Given the description of an element on the screen output the (x, y) to click on. 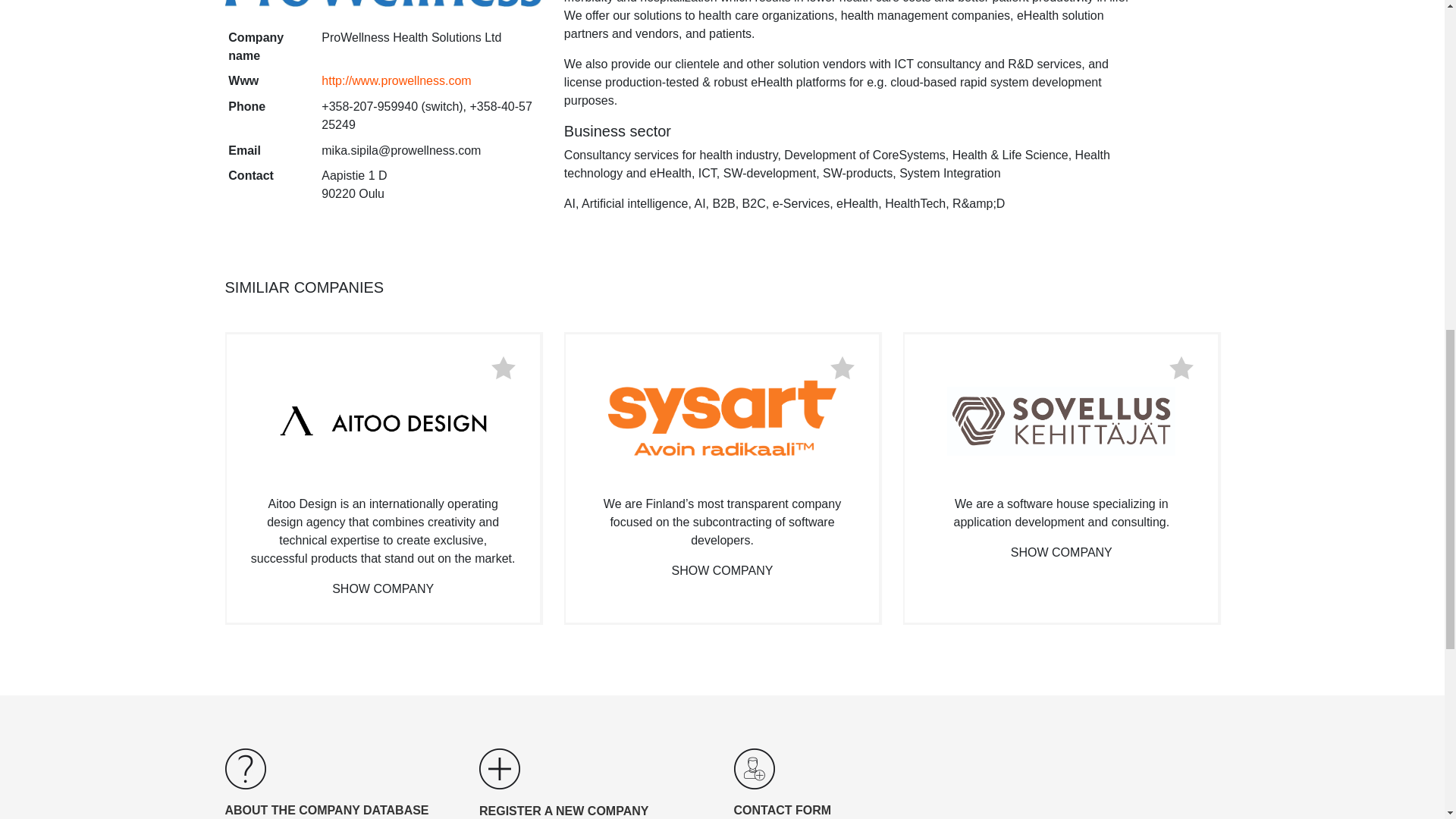
SHOW COMPANY (1061, 552)
SHOW COMPANY (382, 588)
ABOUT THE COMPANY DATABASE (340, 810)
REGISTER A NEW COMPANY (595, 810)
SHOW COMPANY (722, 570)
CONTACT FORM (849, 810)
